Given the description of an element on the screen output the (x, y) to click on. 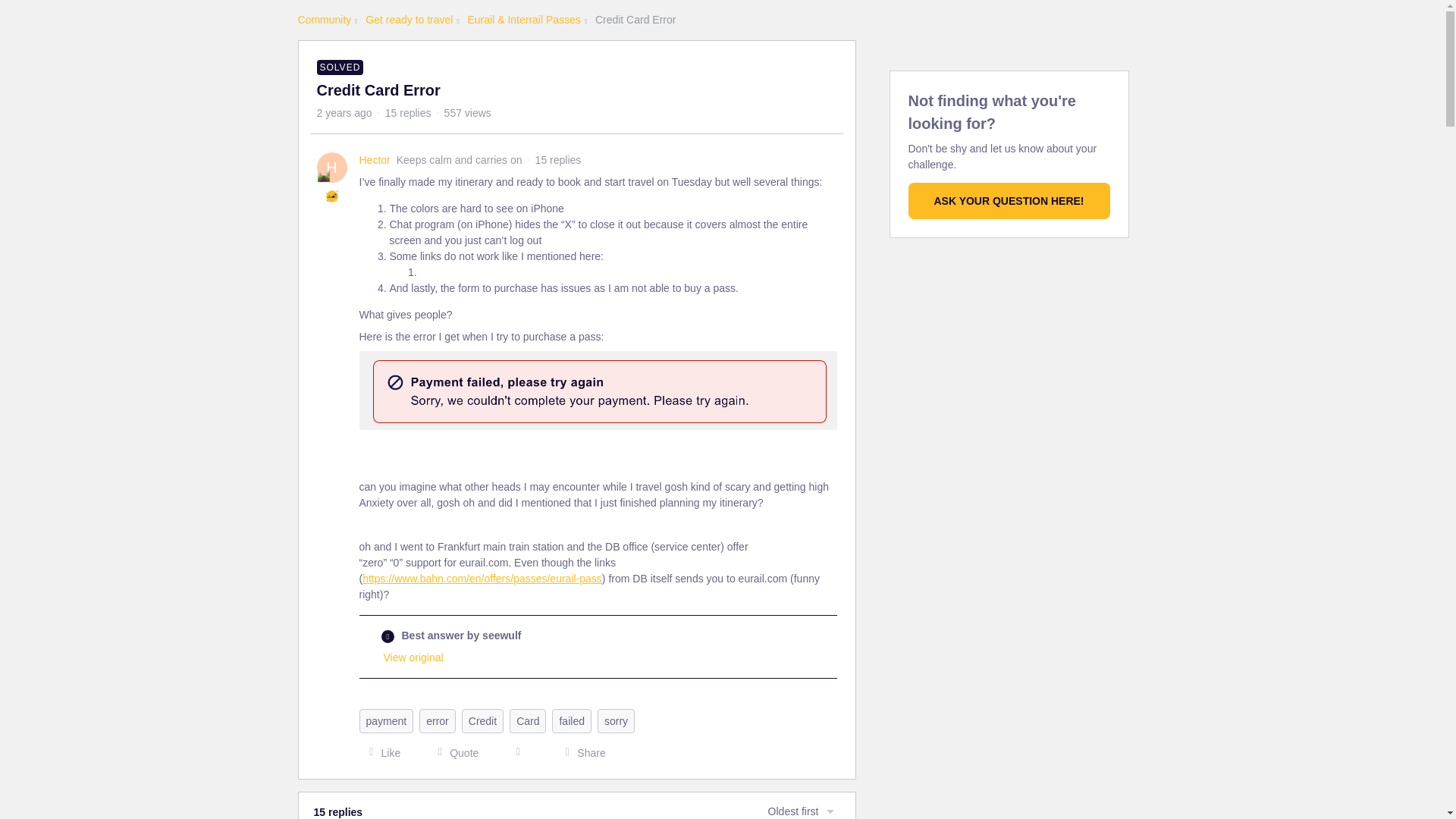
Easygoing (331, 196)
Card (527, 721)
H (332, 167)
Keeps calm and carries on (323, 175)
15 replies (407, 112)
Quote (453, 752)
sorry (615, 721)
Get ready to travel (408, 19)
Hector (374, 160)
Hector (374, 160)
Like (380, 752)
payment (386, 721)
Community (323, 19)
View original (414, 657)
Credit (482, 721)
